Given the description of an element on the screen output the (x, y) to click on. 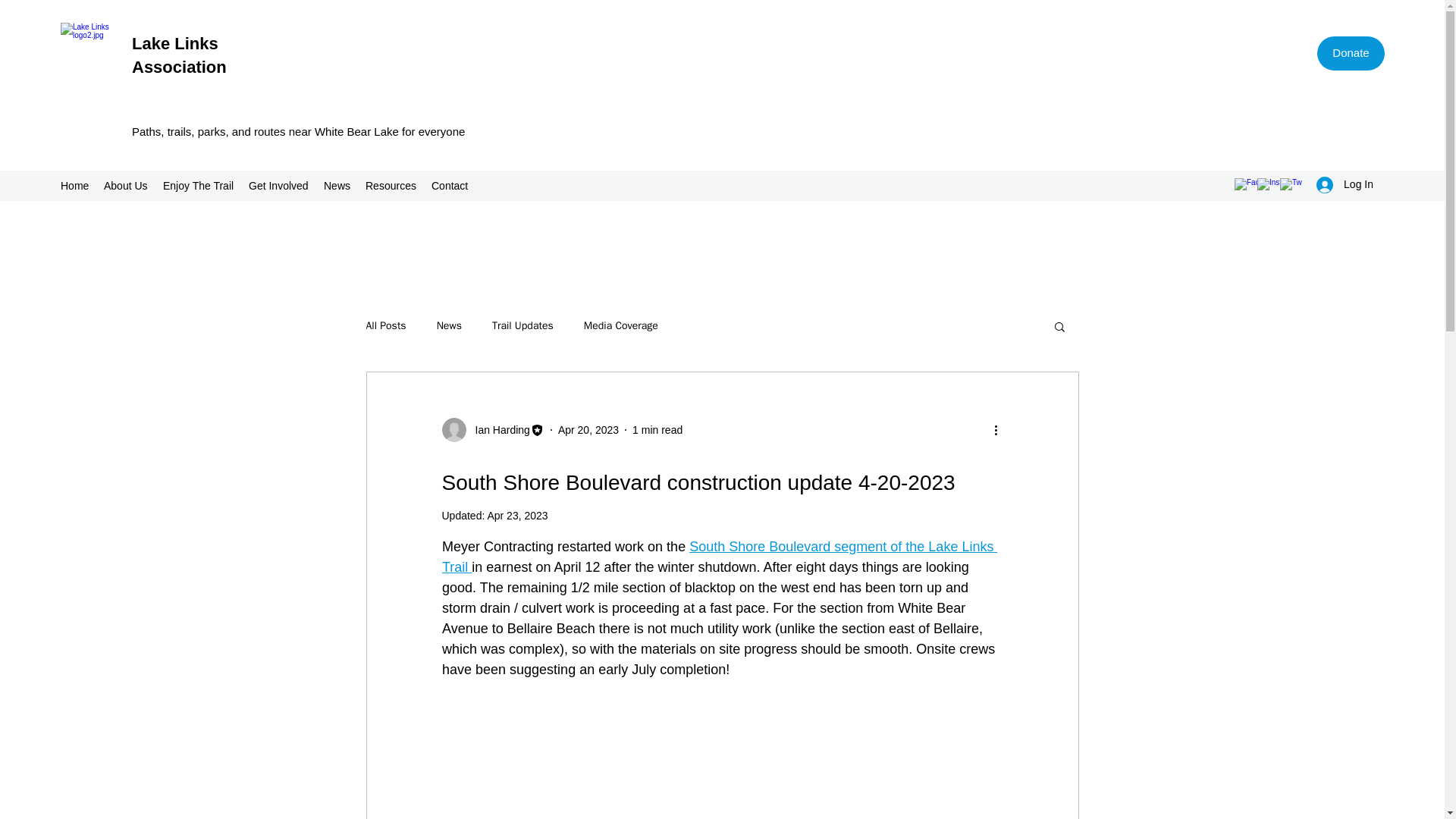
Ian Harding (497, 429)
Apr 20, 2023 (587, 428)
News (336, 185)
Donate (1350, 53)
Trail Updates (522, 325)
Apr 23, 2023 (516, 515)
Get Involved (278, 185)
All Posts (385, 325)
Resources (390, 185)
News (448, 325)
